Given the description of an element on the screen output the (x, y) to click on. 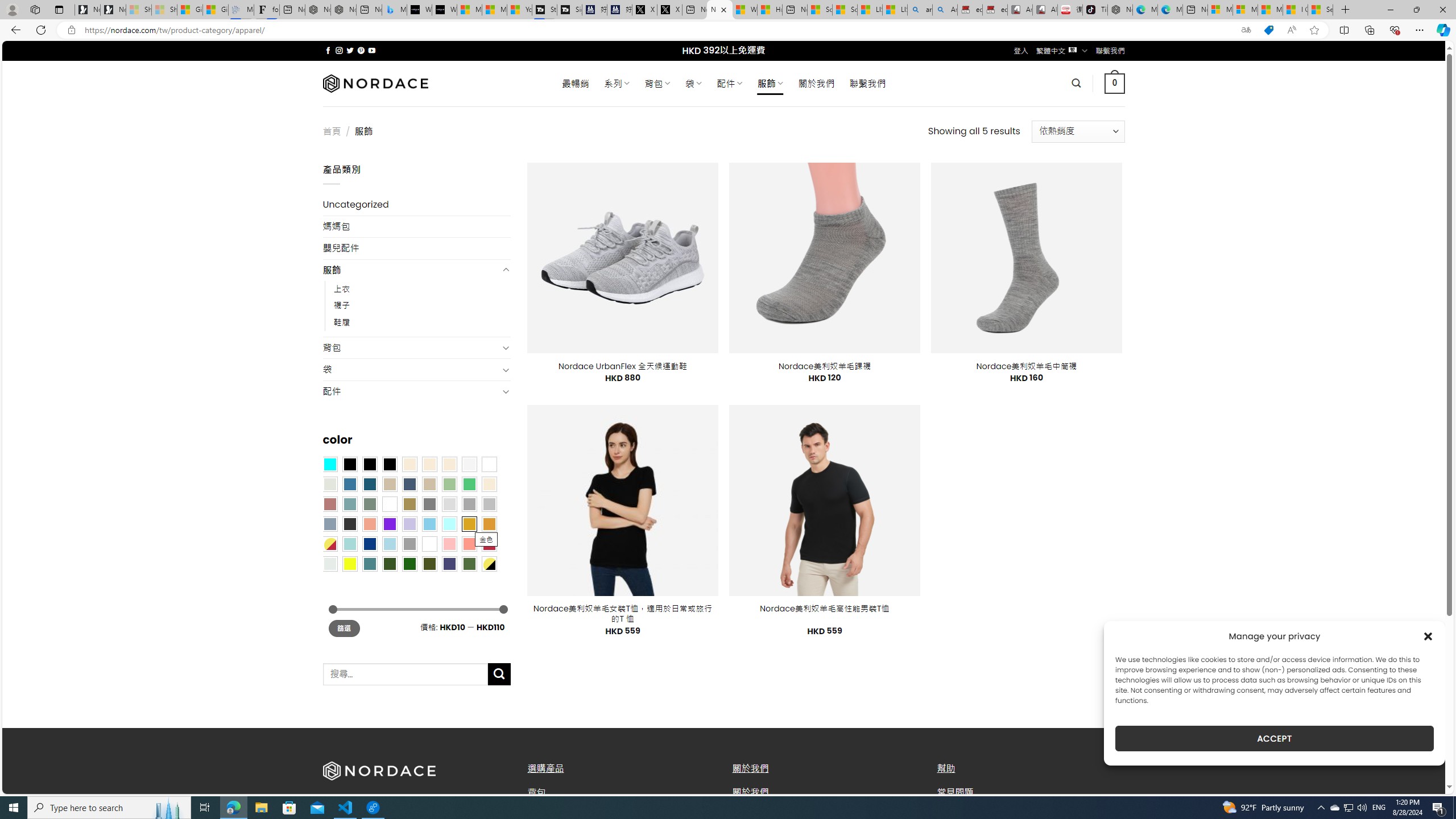
This site has coupons! Shopping in Microsoft Edge (1268, 29)
Uncategorized (416, 204)
